Given the description of an element on the screen output the (x, y) to click on. 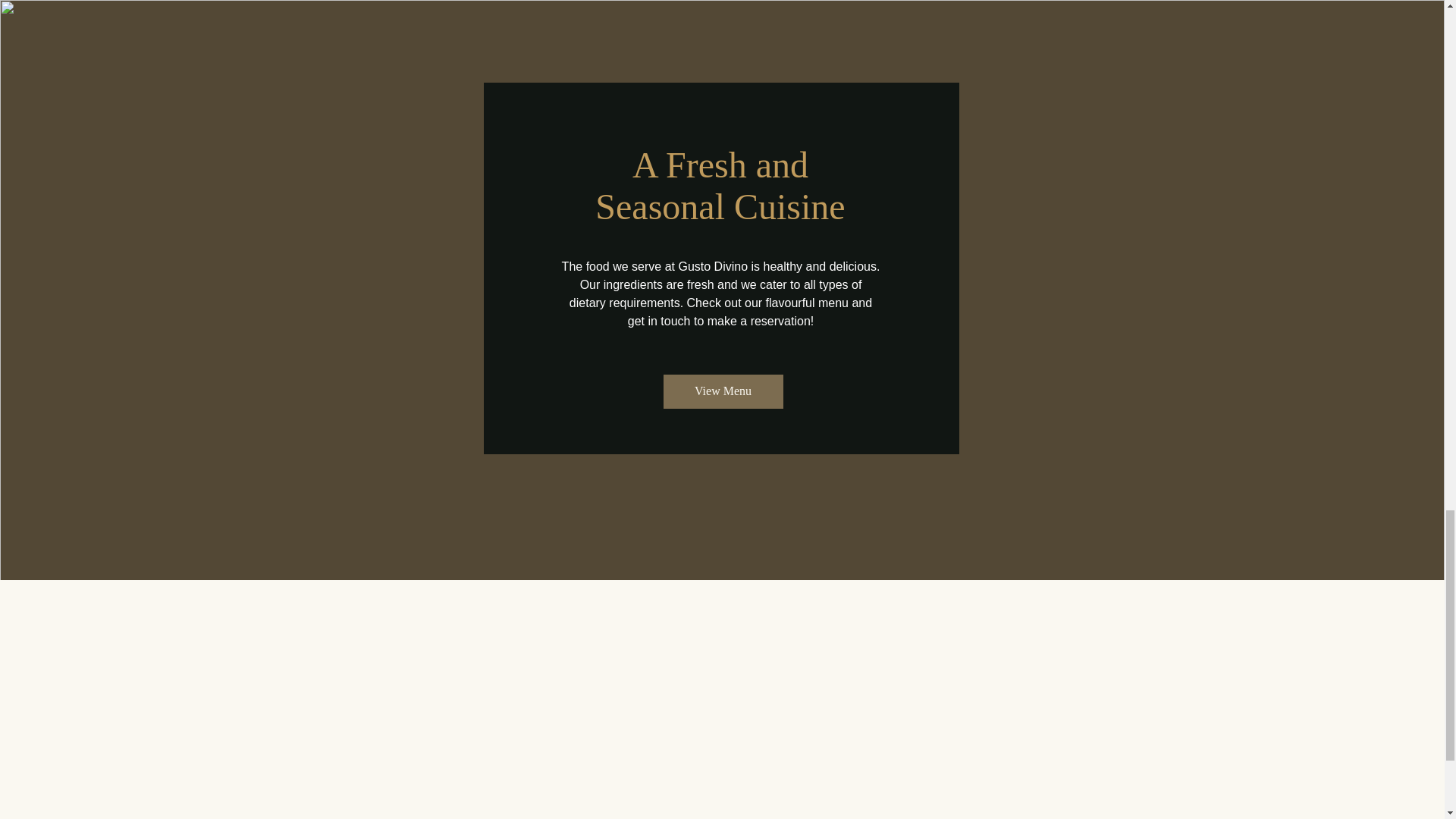
View Menu (722, 391)
